Given the description of an element on the screen output the (x, y) to click on. 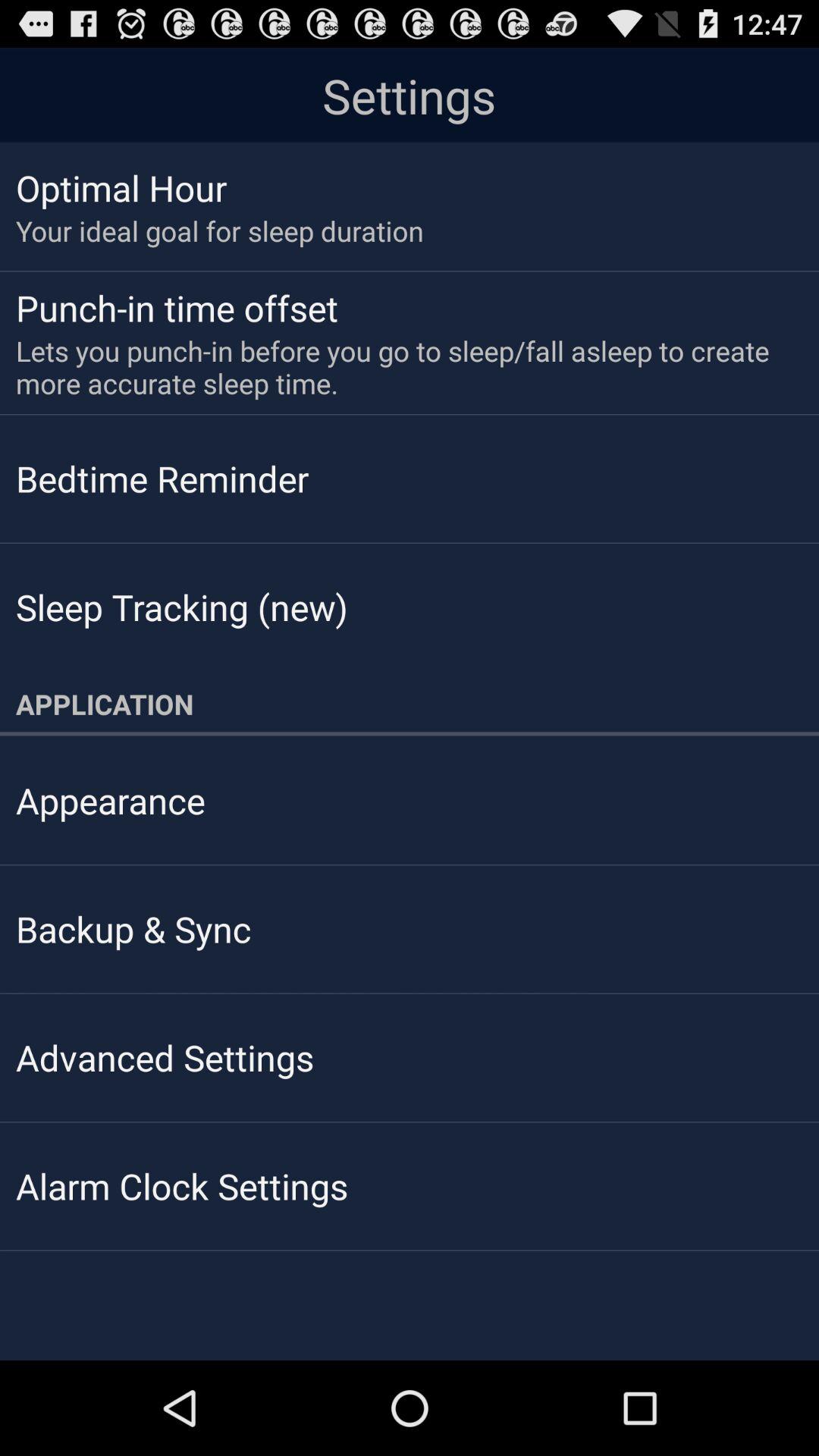
click the app below the optimal hour app (219, 230)
